Given the description of an element on the screen output the (x, y) to click on. 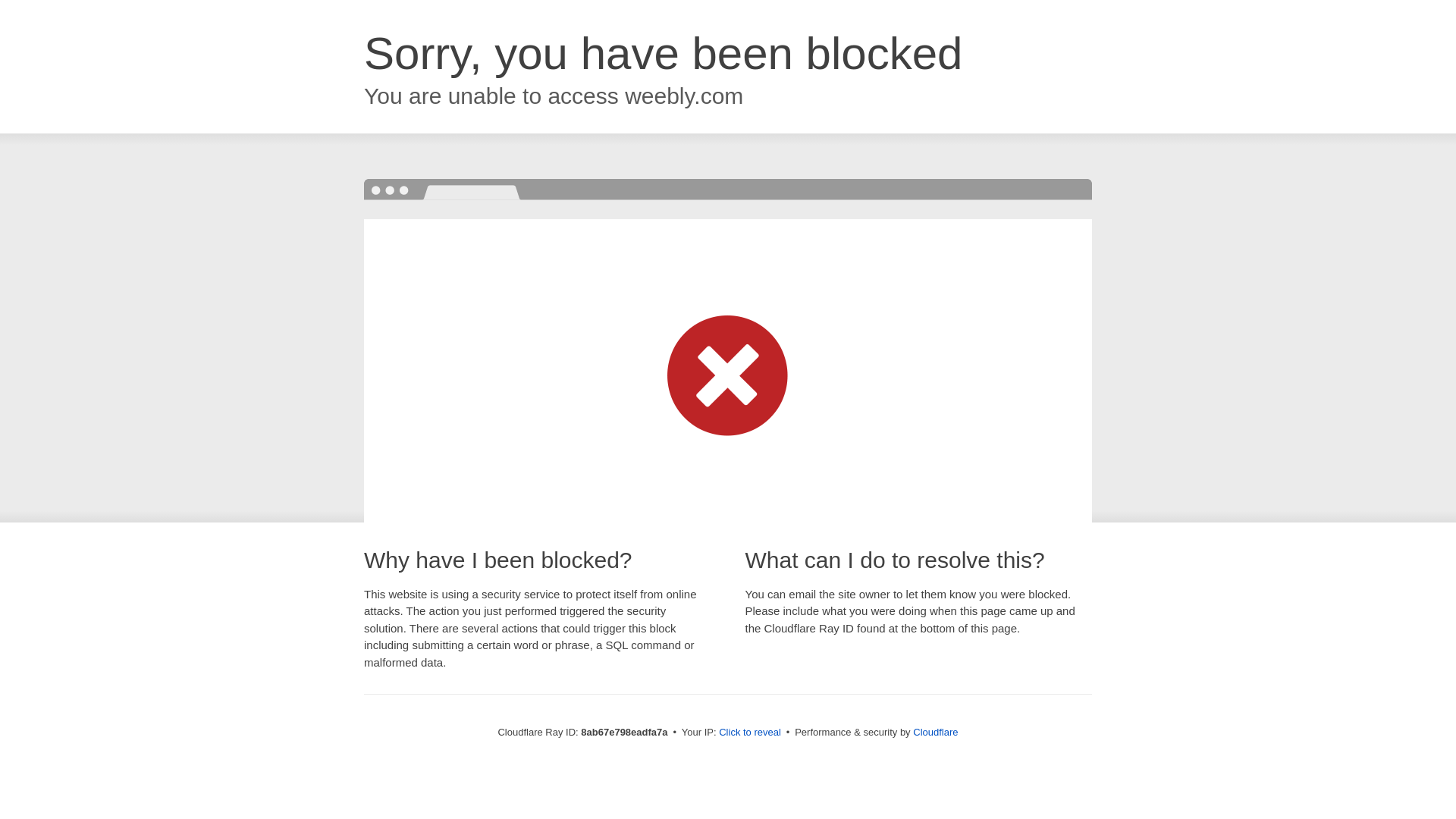
Cloudflare (935, 731)
Click to reveal (749, 732)
